Given the description of an element on the screen output the (x, y) to click on. 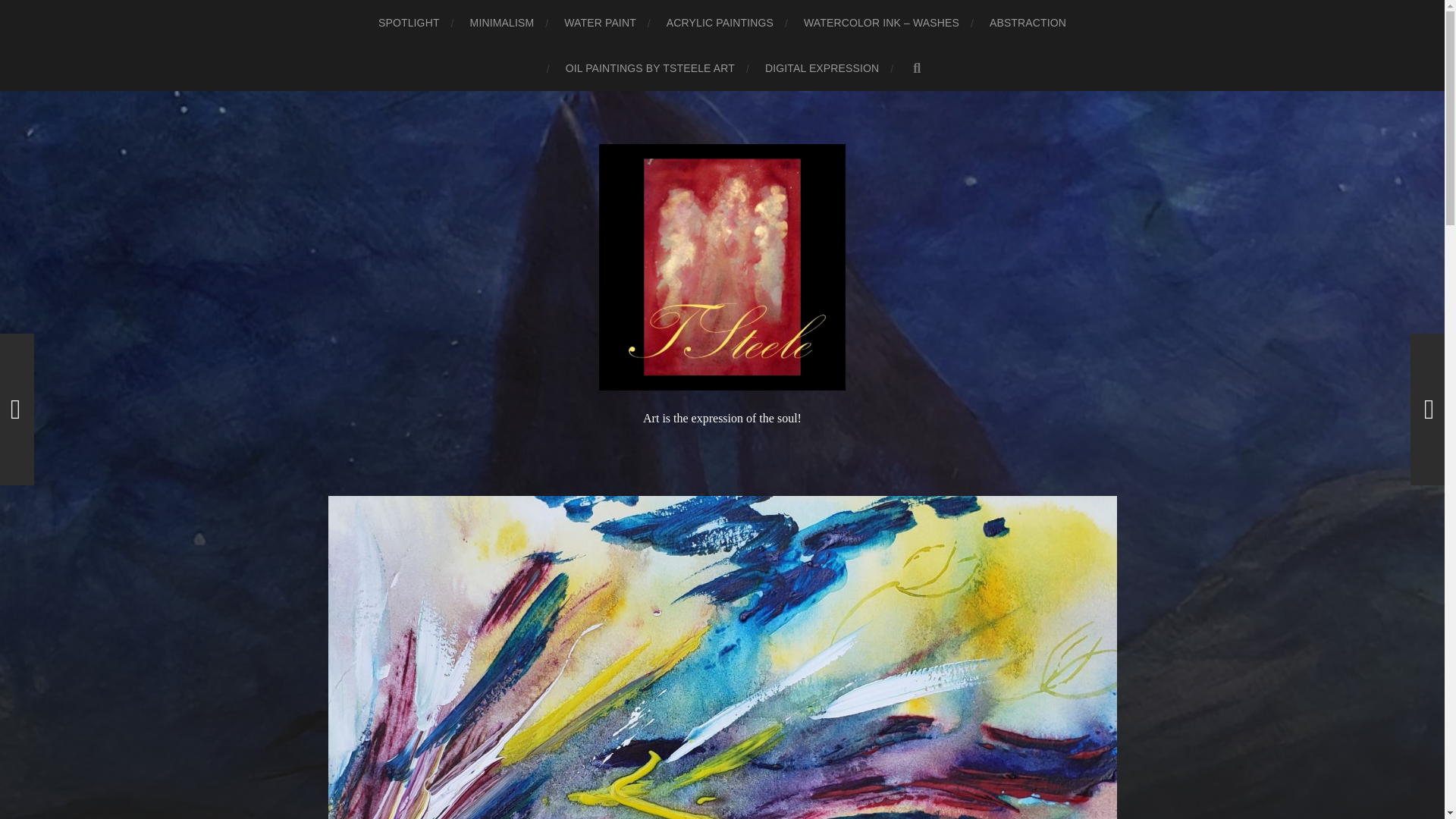
OIL PAINTINGS BY TSTEELE ART (650, 67)
DIGITAL EXPRESSION (822, 67)
WATER PAINT (600, 22)
ABSTRACTION (1027, 22)
ACRYLIC PAINTINGS (719, 22)
MINIMALISM (502, 22)
SPOTLIGHT (408, 22)
